Given the description of an element on the screen output the (x, y) to click on. 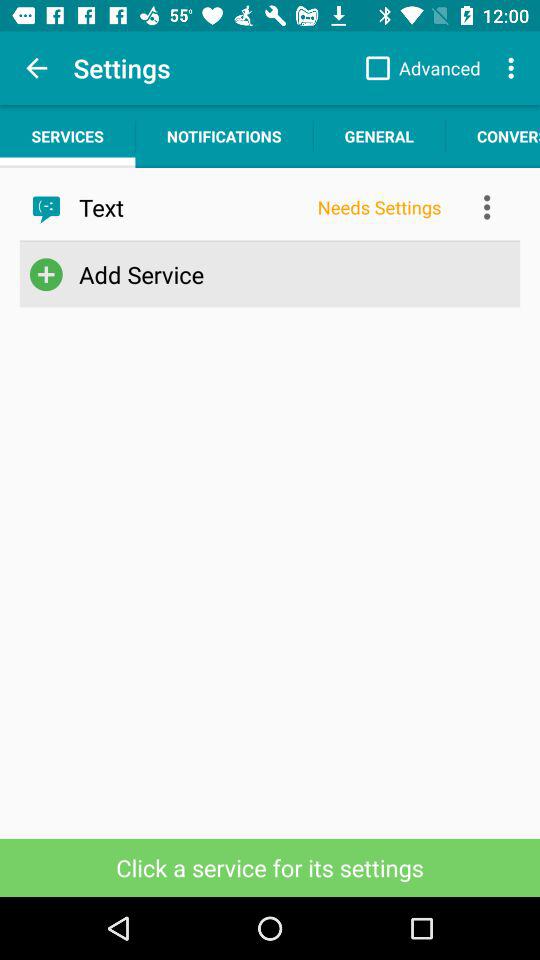
open app next to the settings (418, 68)
